Given the description of an element on the screen output the (x, y) to click on. 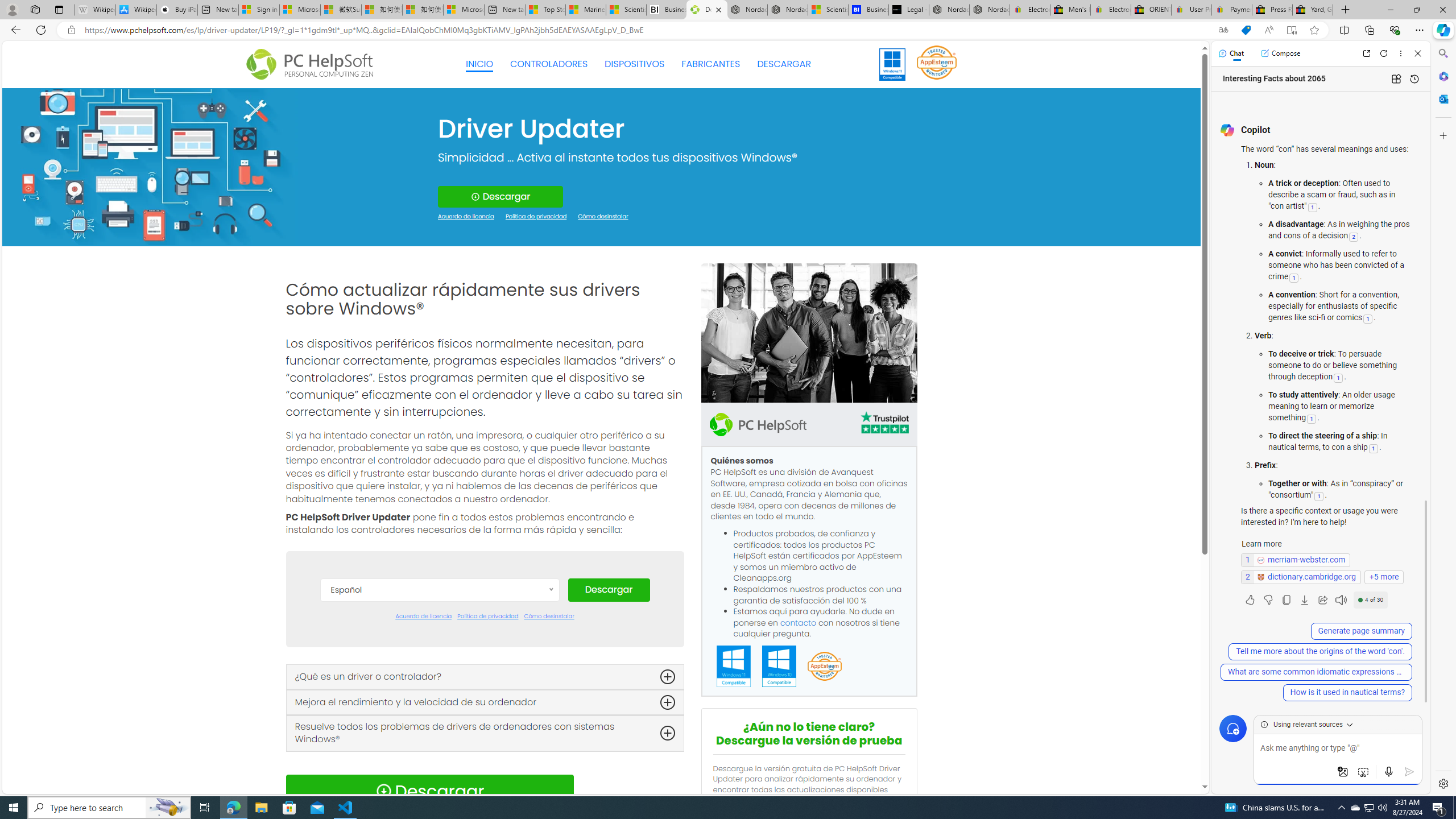
Dansk (439, 643)
DESCARGAR (783, 64)
Enter Immersive Reader (F9) (1291, 29)
Windows 11 Compatible (733, 666)
Norsk (439, 780)
DISPOSITIVOS (634, 64)
Microsoft account | Account Checkup (463, 9)
Descarga Driver Updater (706, 9)
Top Stories - MSN (544, 9)
Chat (1231, 52)
